Given the description of an element on the screen output the (x, y) to click on. 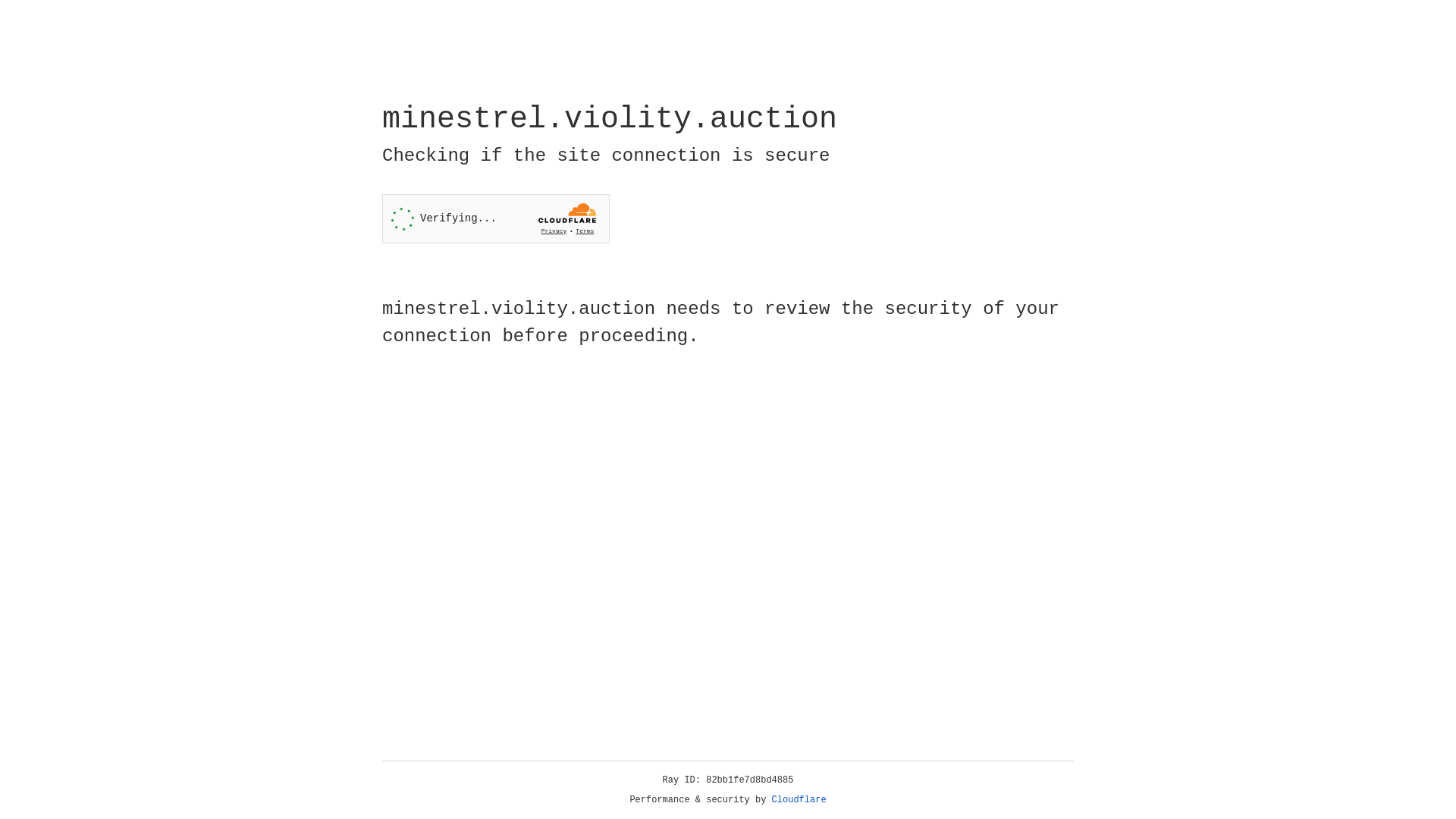
Widget containing a Cloudflare security challenge Element type: hover (495, 218)
Cloudflare Element type: text (798, 799)
